Given the description of an element on the screen output the (x, y) to click on. 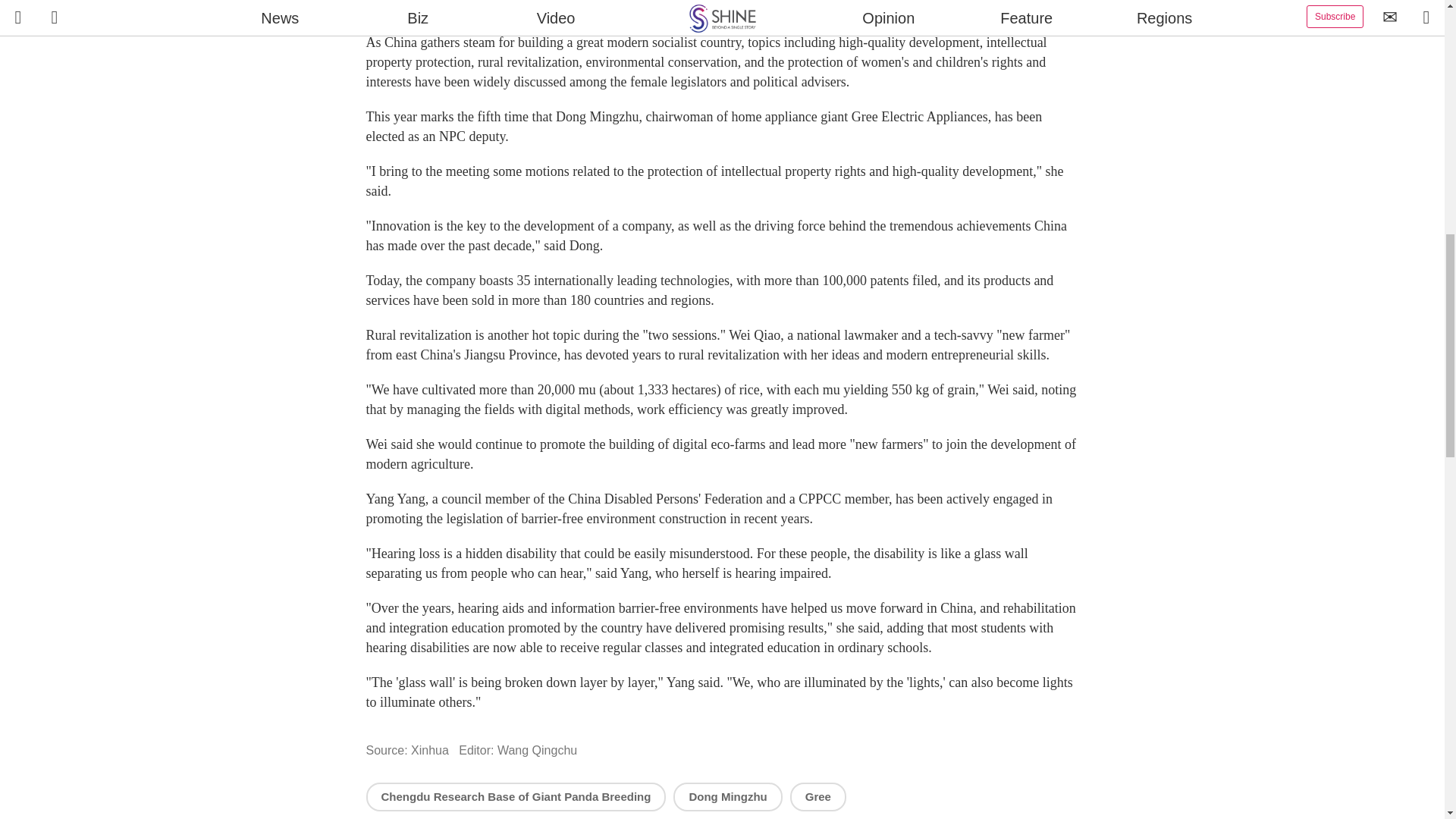
Dong Mingzhu (726, 796)
Chengdu Research Base of Giant Panda Breeding (515, 796)
Gree (817, 796)
